Given the description of an element on the screen output the (x, y) to click on. 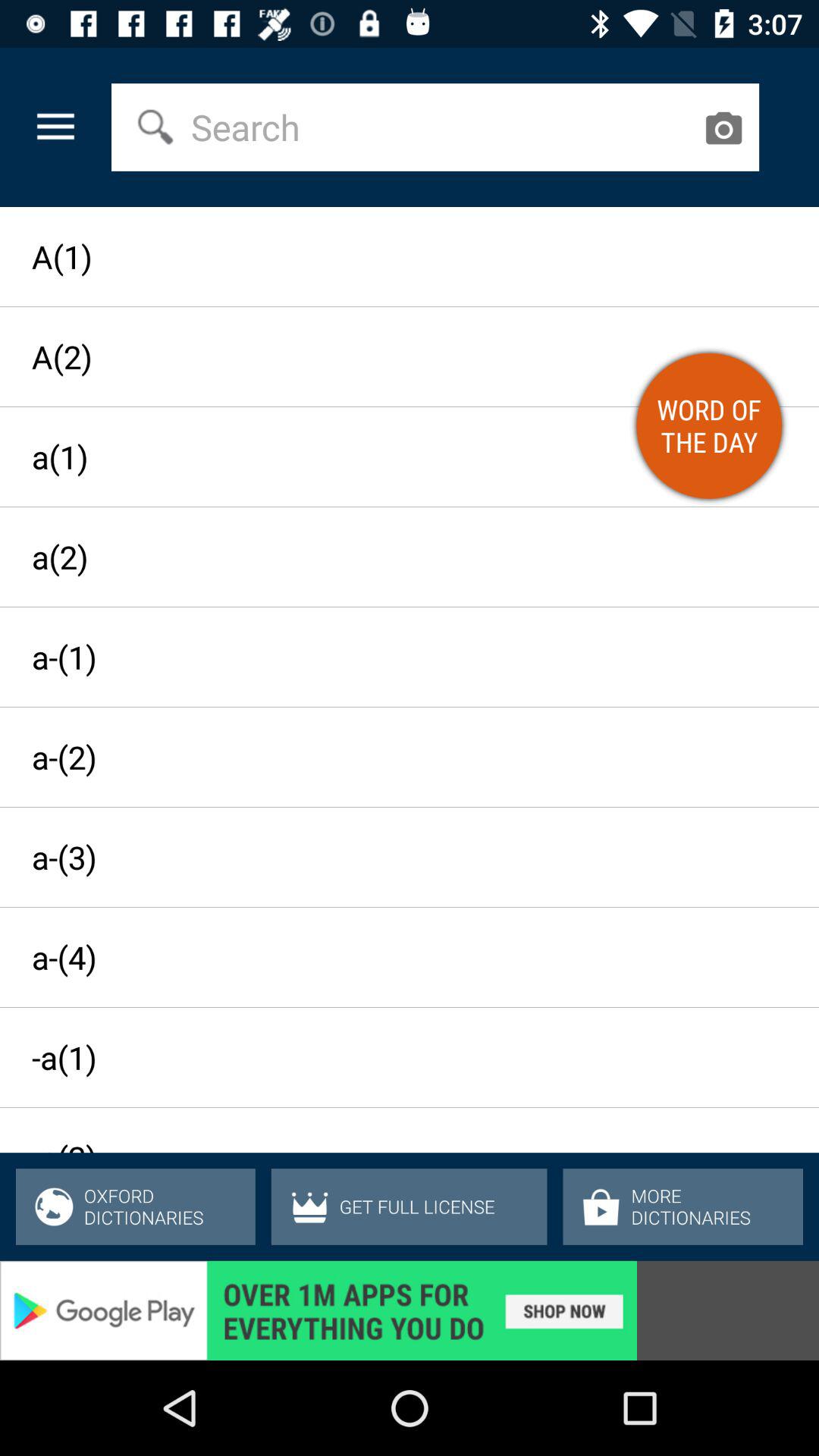
go to advertisement (409, 1310)
